Given the description of an element on the screen output the (x, y) to click on. 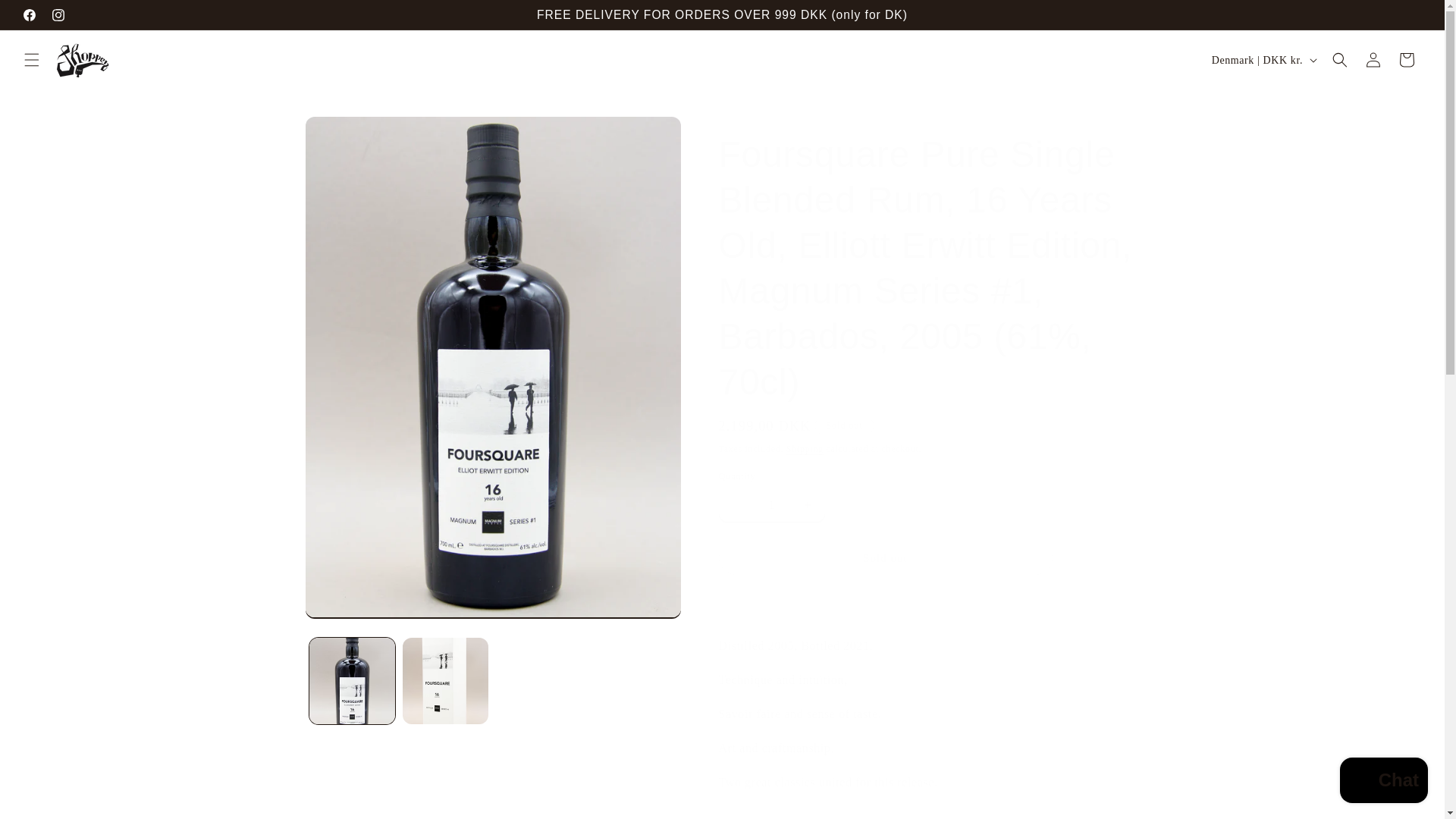
Shopify online store chat (1383, 781)
Cart (1406, 59)
Log in (1373, 59)
1 (771, 504)
Facebook (28, 14)
Instagram (57, 14)
Skip to content (45, 16)
